Given the description of an element on the screen output the (x, y) to click on. 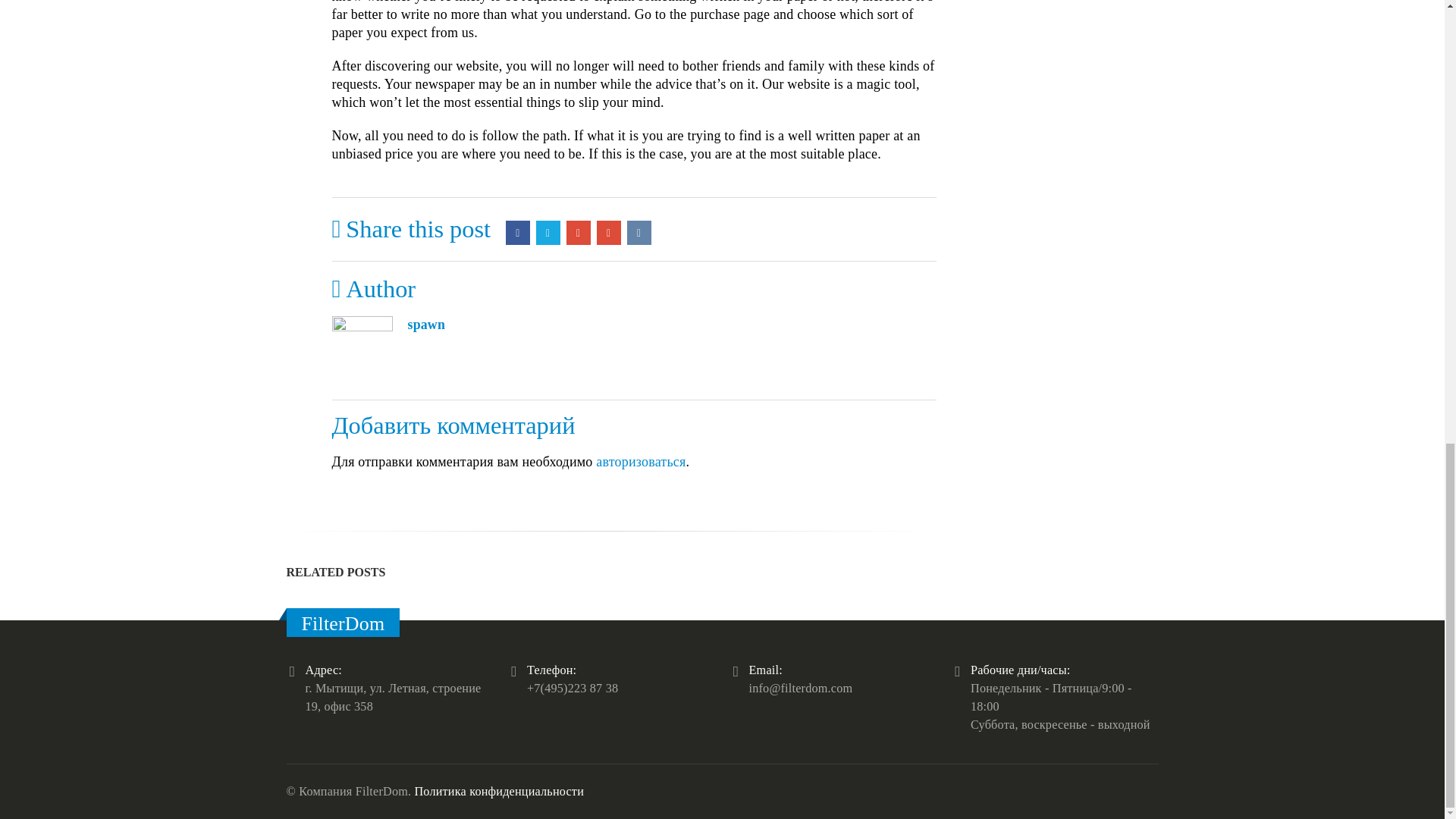
Twitter (547, 232)
Twitter (547, 232)
VK (638, 232)
Email (608, 232)
spawn (426, 324)
Facebook (517, 232)
Facebook (517, 232)
Email (608, 232)
VK (638, 232)
